Given the description of an element on the screen output the (x, y) to click on. 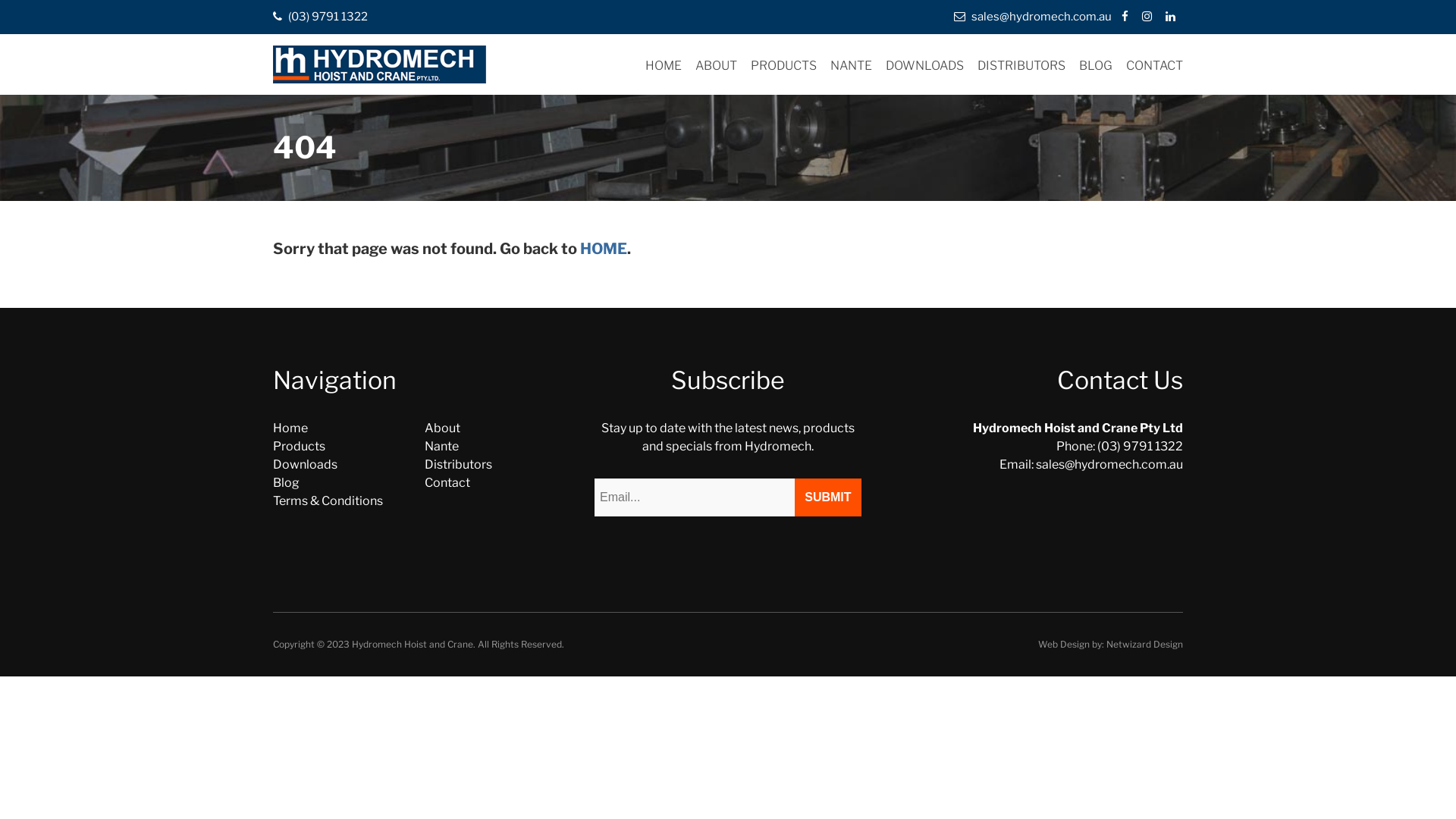
DISTRIBUTORS Element type: text (1021, 65)
DOWNLOADS Element type: text (924, 65)
ABOUT Element type: text (716, 65)
BLOG Element type: text (1095, 65)
Blog Element type: text (286, 482)
Terms & Conditions Element type: text (327, 500)
About Element type: text (442, 427)
Nante Element type: text (441, 446)
Products Element type: text (299, 446)
Home Element type: text (290, 427)
HOME Element type: text (663, 65)
NANTE Element type: text (851, 65)
PRODUCTS Element type: text (783, 65)
Contact Element type: text (447, 482)
HOME Element type: text (603, 248)
sales@hydromech.com.au Element type: text (1032, 16)
Distributors Element type: text (458, 464)
Submit Element type: text (827, 497)
CONTACT Element type: text (1154, 65)
Netwizard Design Element type: text (1144, 643)
Downloads Element type: text (305, 464)
